Given the description of an element on the screen output the (x, y) to click on. 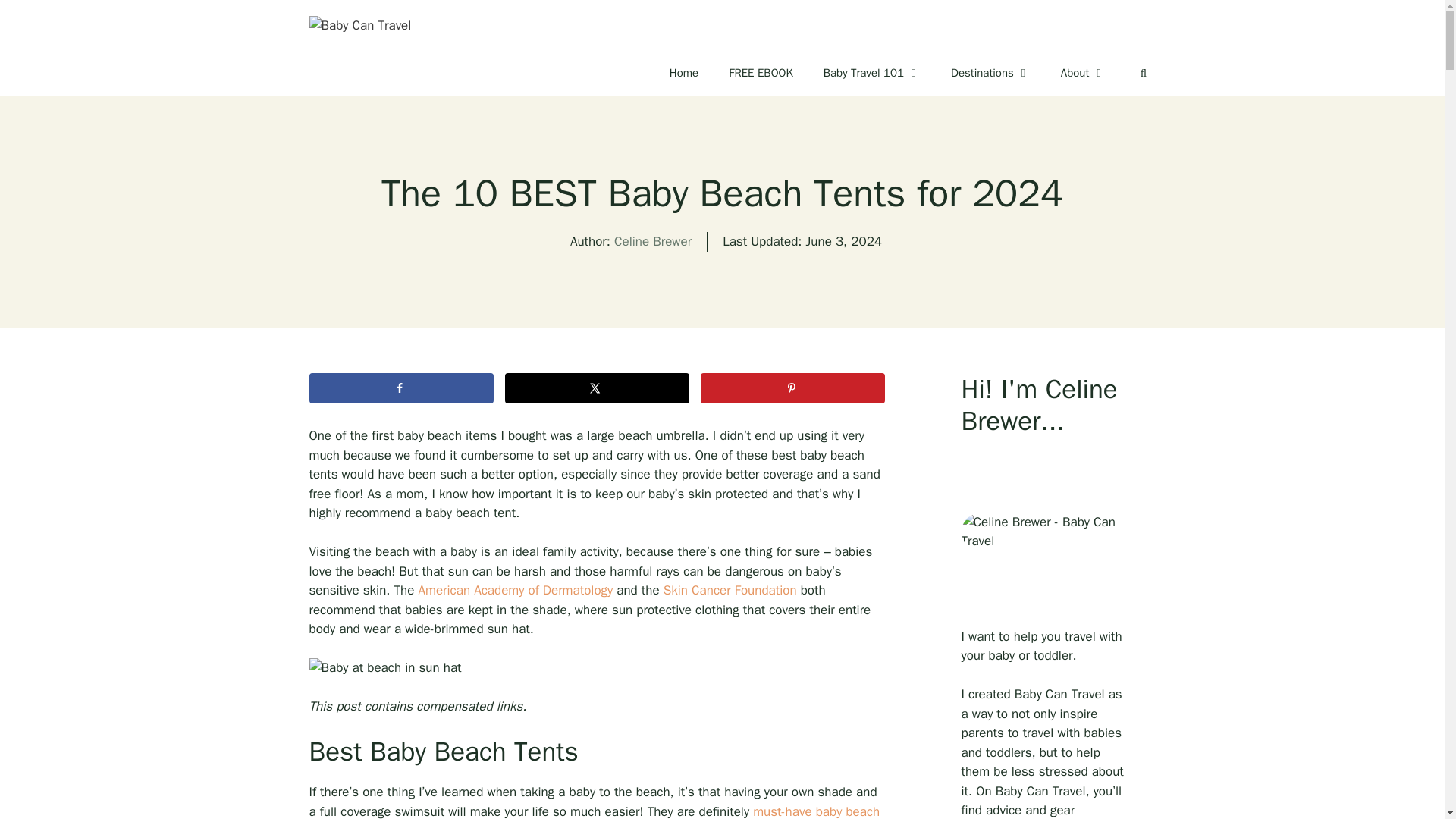
Save to Pinterest (792, 388)
Destinations (990, 72)
About (1083, 72)
Baby Travel 101 (872, 72)
Home (683, 72)
FREE EBOOK (760, 72)
Share on X (596, 388)
Share on Facebook (400, 388)
